Given the description of an element on the screen output the (x, y) to click on. 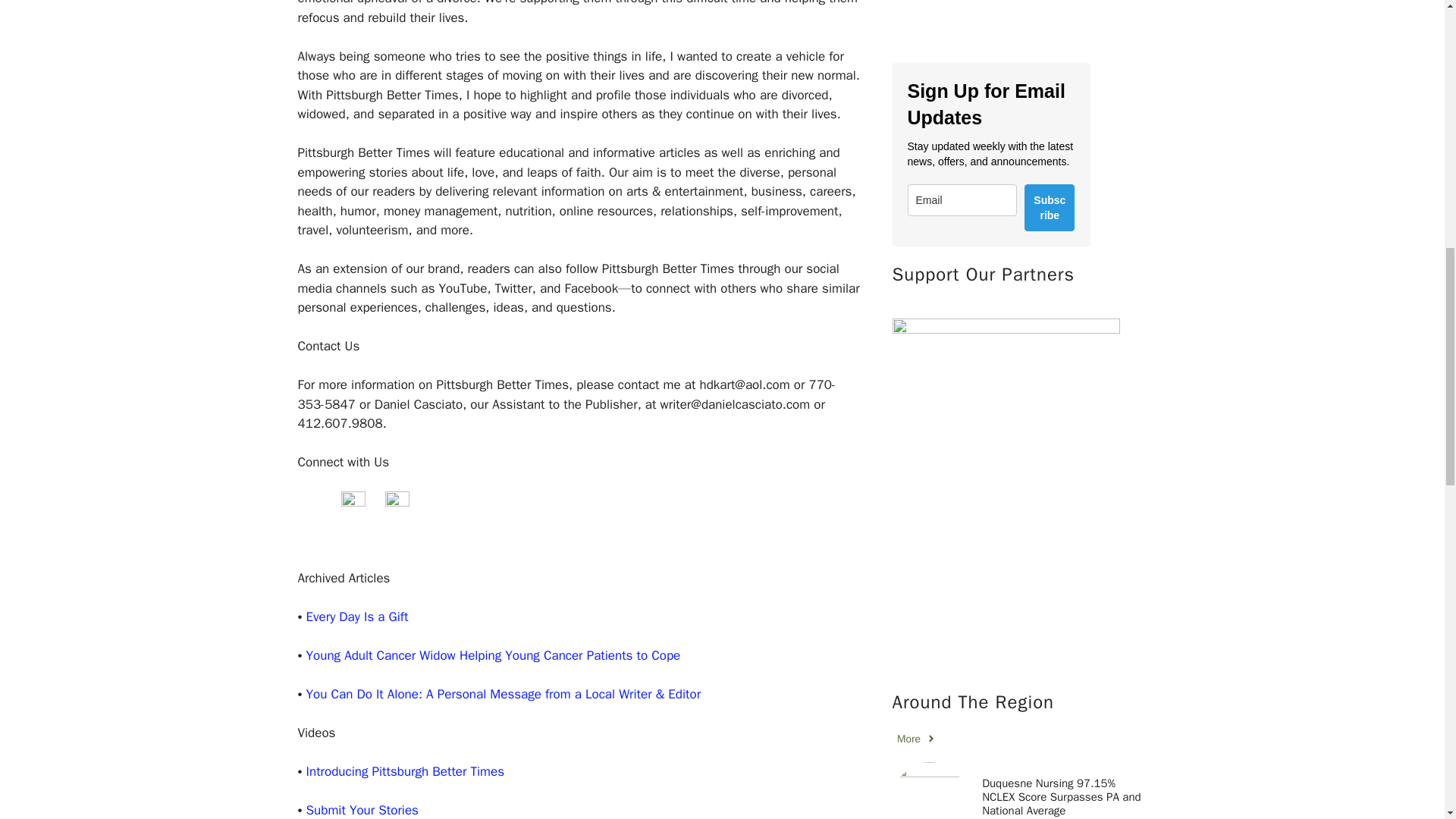
linkedin (397, 503)
Submit Your Stories (362, 810)
Introducing Pittsburgh Better Times (404, 771)
Facebook (309, 503)
Every Day Is a Gift (357, 616)
twitter (352, 503)
